Given the description of an element on the screen output the (x, y) to click on. 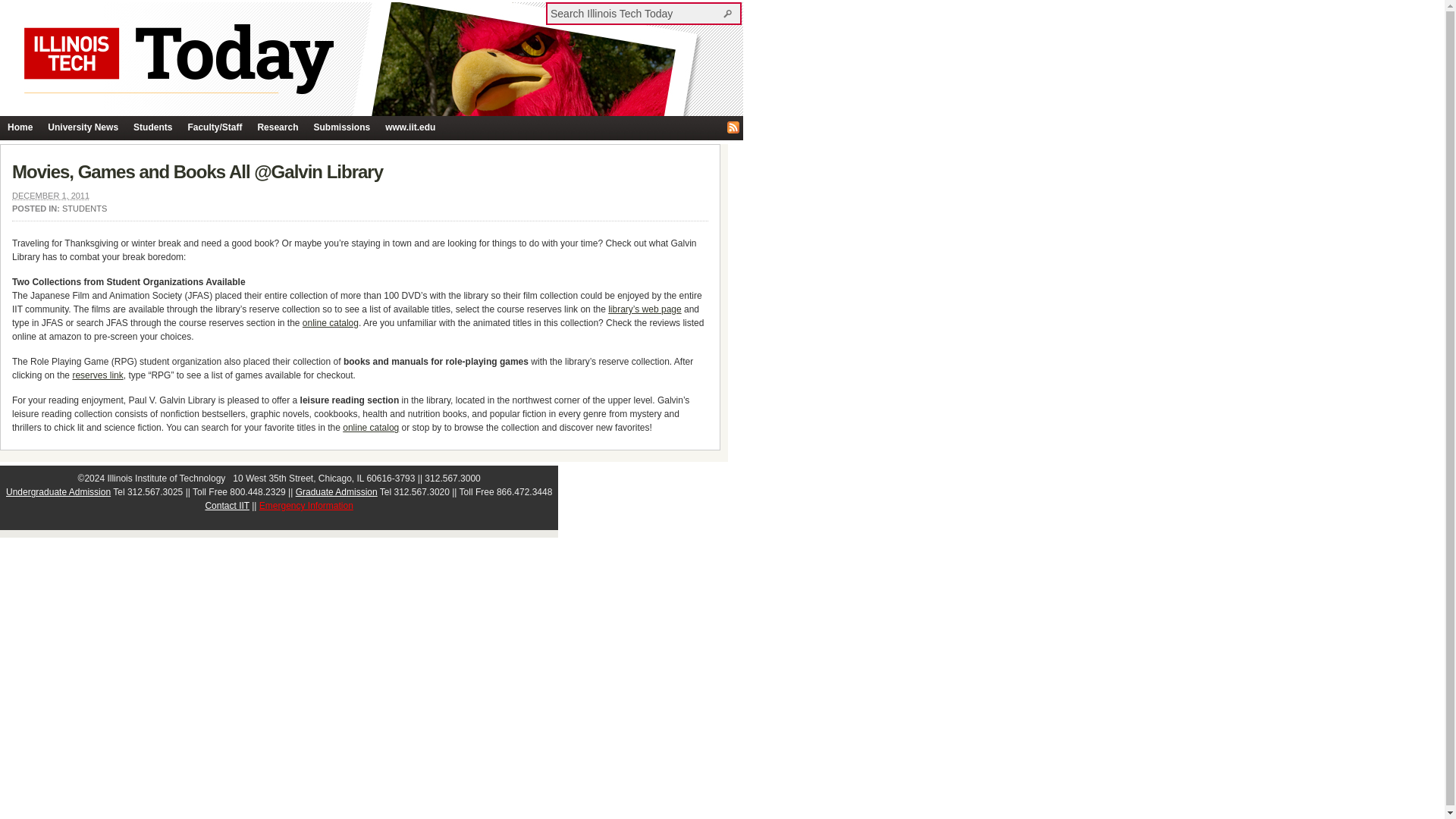
Students (152, 127)
Home (20, 127)
University News (82, 127)
Undergraduate Admission (57, 491)
online catalog (370, 427)
Search (729, 13)
Graduate Admission (336, 491)
Illinois Tech Today RSS Feed (732, 127)
Contact IIT (226, 505)
Search Illinois Tech Today (636, 13)
